Given the description of an element on the screen output the (x, y) to click on. 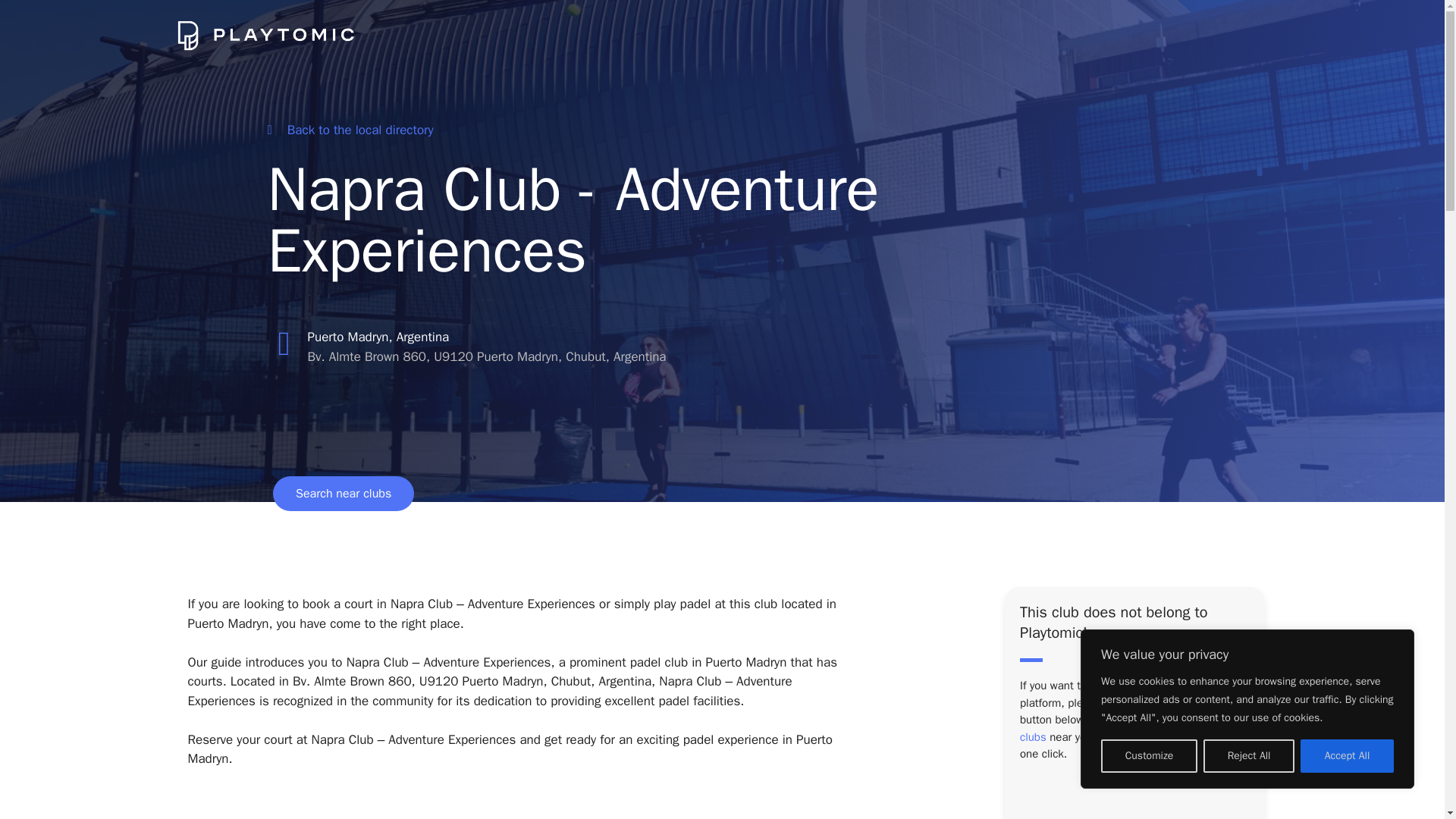
Accept All (1346, 756)
Search near clubs (343, 493)
Customize (1148, 756)
Reject All (1249, 756)
Back to the local directory (349, 130)
search for other clubs (1128, 727)
